Given the description of an element on the screen output the (x, y) to click on. 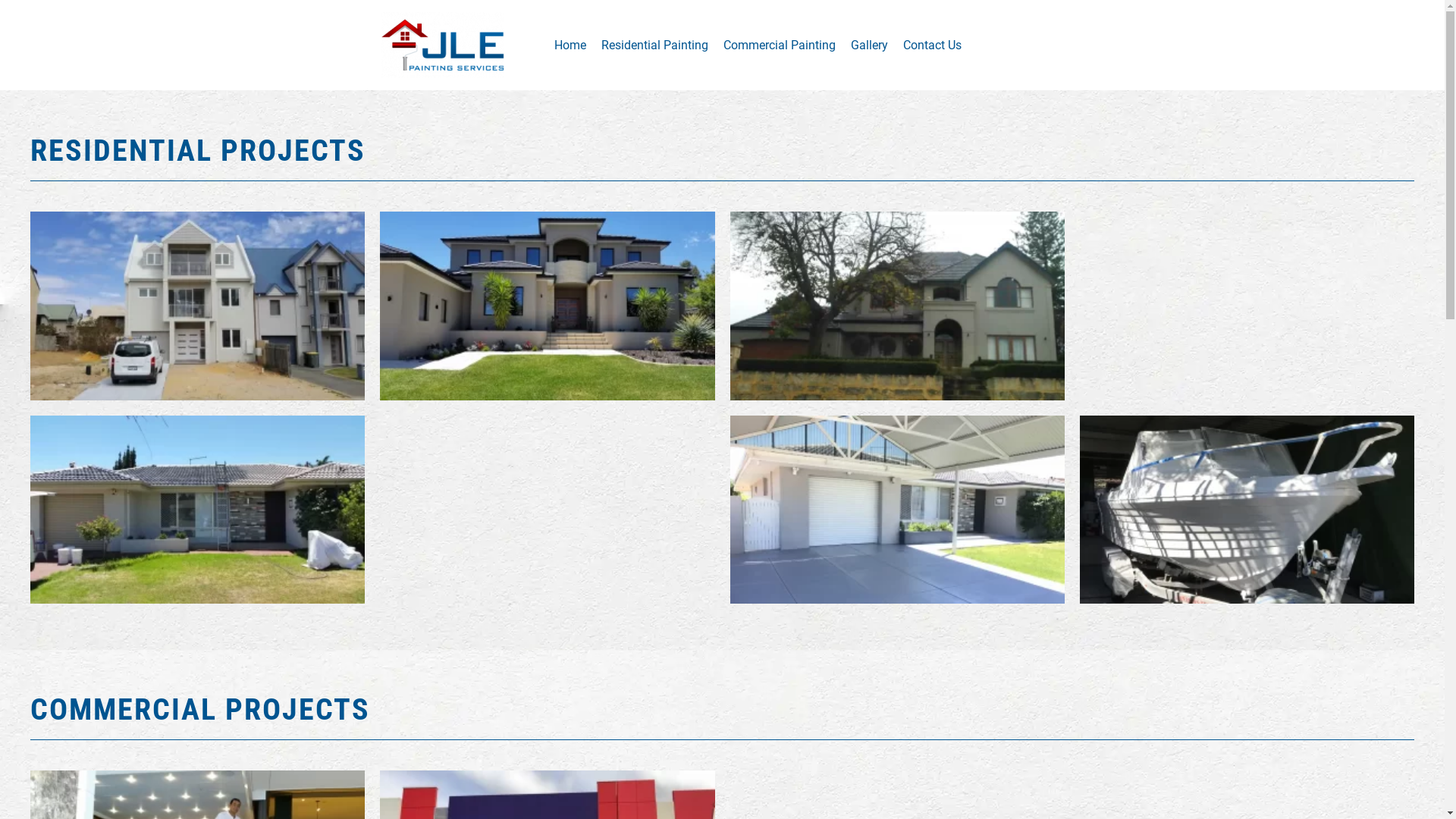
JLE PAINTING SERVICES RESIDENTIAL 7 Element type: hover (1246, 509)
JLE PAINTING SERVICES RESIDENTIAL 1 Element type: hover (197, 305)
JLE PAINTING SERVICES RESIDENTIAL 10 Element type: hover (546, 305)
Commercial Painting Element type: text (779, 44)
Home Element type: text (569, 44)
Gallery Element type: text (869, 44)
Contact Us Element type: text (931, 44)
JLE PAINTING SERVICES RESIDENTIAL 4 Element type: hover (197, 509)
JLE PAINTING SERVICES RESIDENTIAL 8 Element type: hover (896, 509)
JLE PAINTING SERVICES RESIDENTIAL 2 Element type: hover (896, 305)
Residential Painting Element type: text (654, 44)
